Given the description of an element on the screen output the (x, y) to click on. 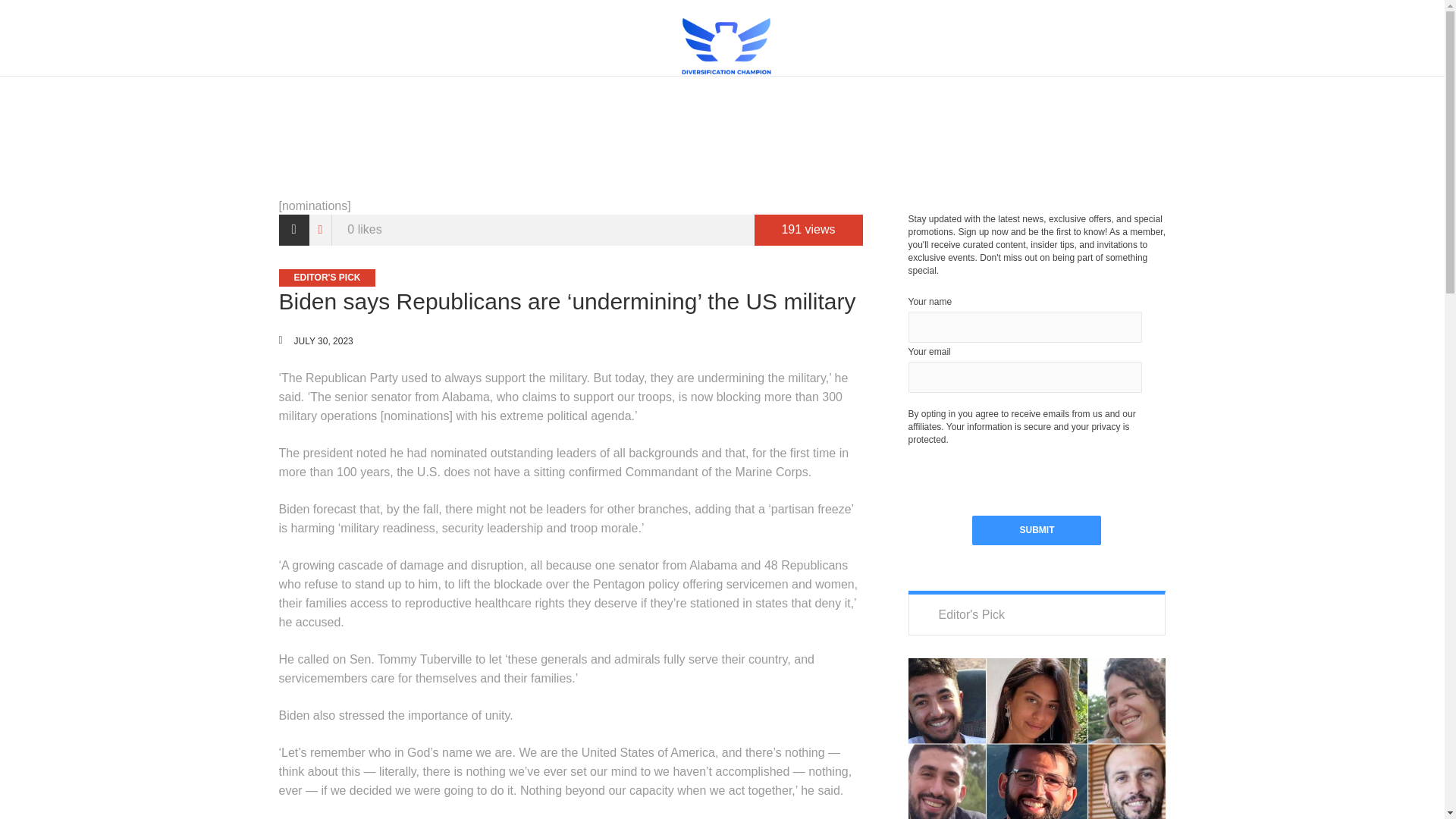
Submit (1036, 530)
Submit (1036, 530)
EDITOR'S PICK (327, 277)
